Given the description of an element on the screen output the (x, y) to click on. 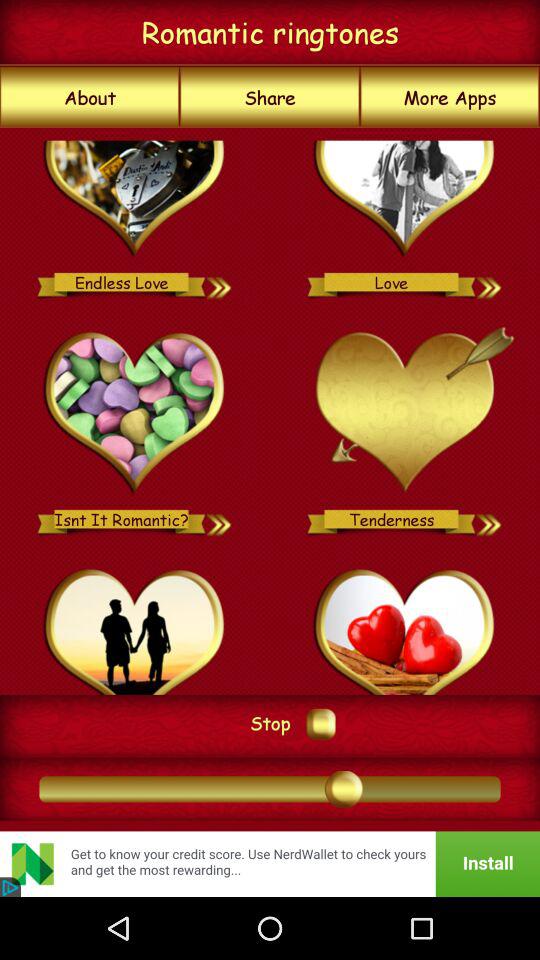
launch the item to the left of the more apps item (270, 97)
